Given the description of an element on the screen output the (x, y) to click on. 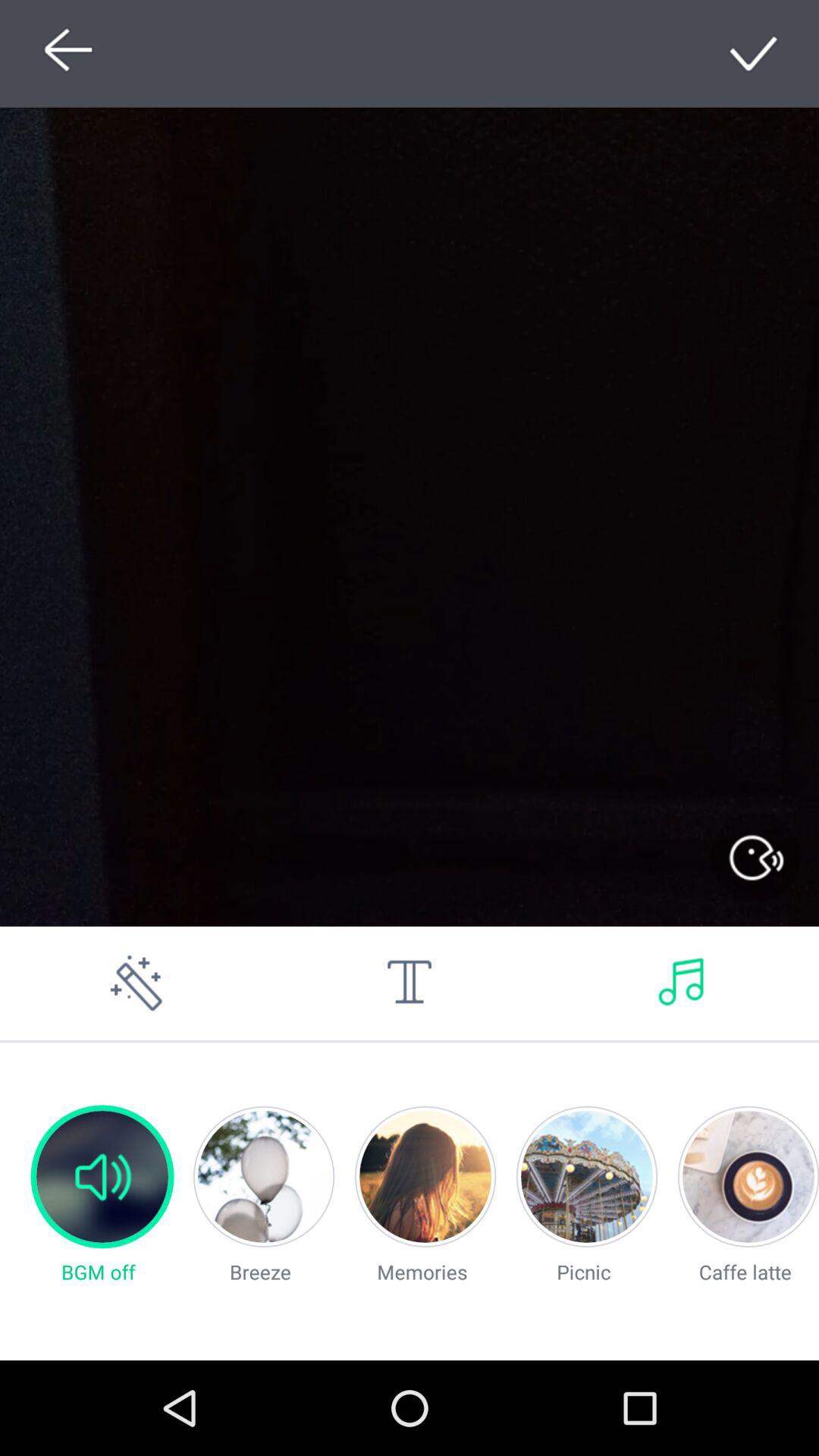
allows the user to edit a picture (136, 983)
